Given the description of an element on the screen output the (x, y) to click on. 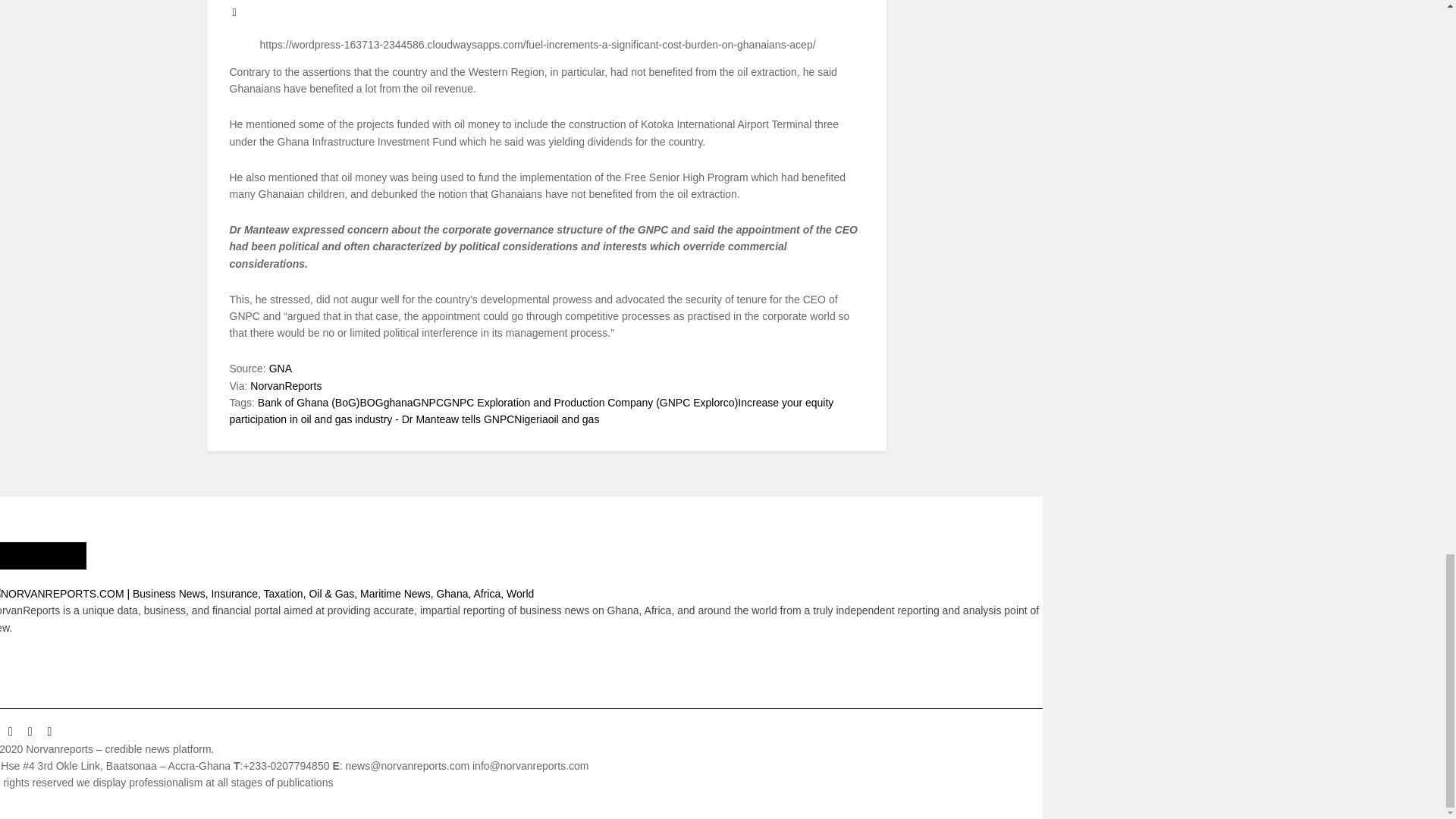
Next (233, 11)
